Given the description of an element on the screen output the (x, y) to click on. 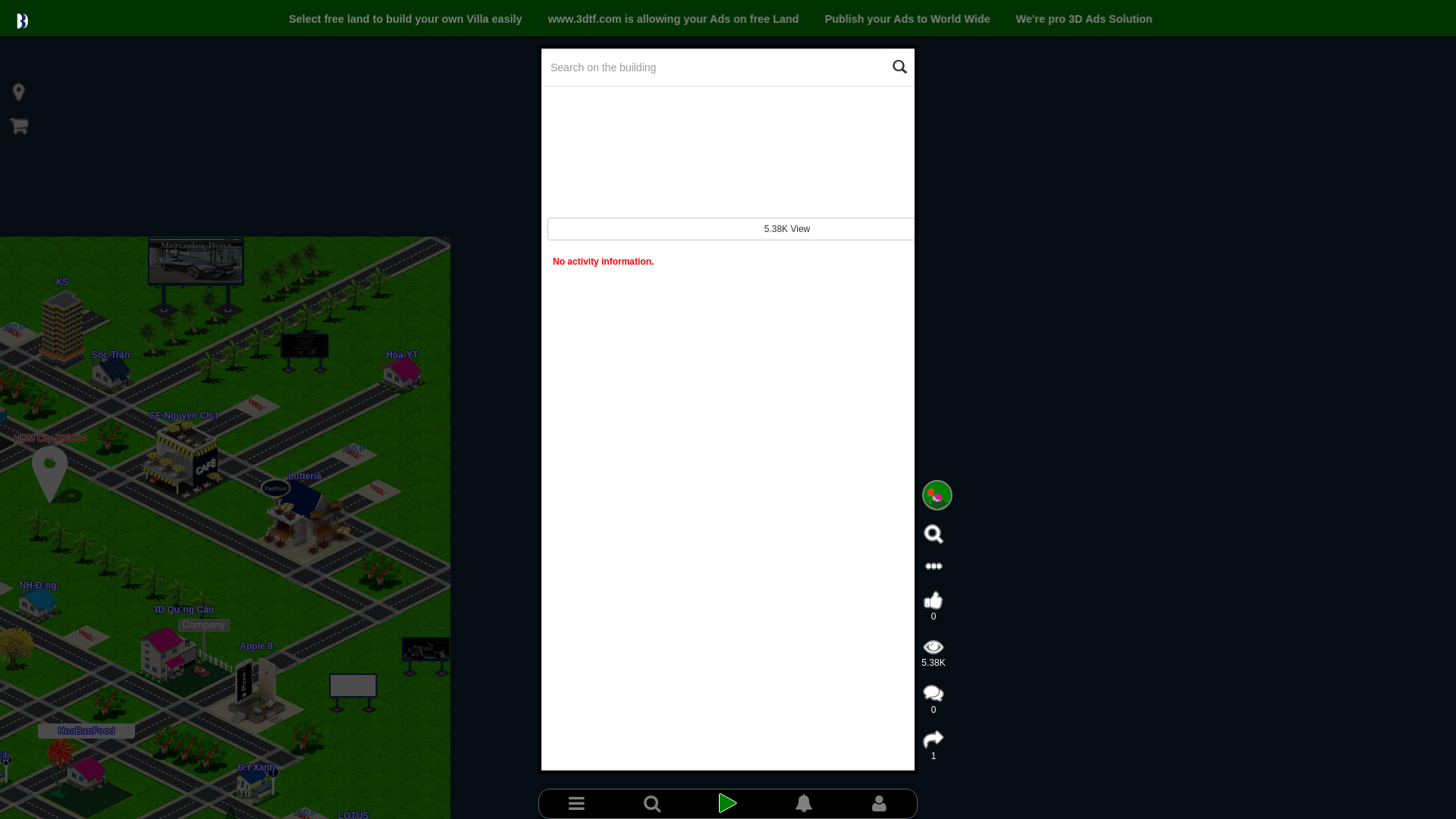
0 Element type: text (933, 702)
HoaBanFood Element type: text (86, 730)
5.38K View Element type: text (786, 228)
HCM City-000004 Element type: text (49, 438)
1 Element type: text (933, 749)
Lotteria Element type: text (304, 475)
KS Element type: text (62, 281)
Select free land to build your own Villa easily Element type: text (406, 18)
5.38K Element type: text (932, 656)
We're pro 3D Ads Solution Element type: text (1084, 18)
Hoa-YT Element type: text (401, 354)
www.3dtf.com is allowing your Ads on free Land Element type: text (675, 18)
100.P Element type: text (352, 448)
100.P Element type: text (13, 327)
Apple 8 Element type: text (255, 645)
100.P Element type: text (304, 812)
Publish your Ads to World Wide Element type: text (909, 18)
